Given the description of an element on the screen output the (x, y) to click on. 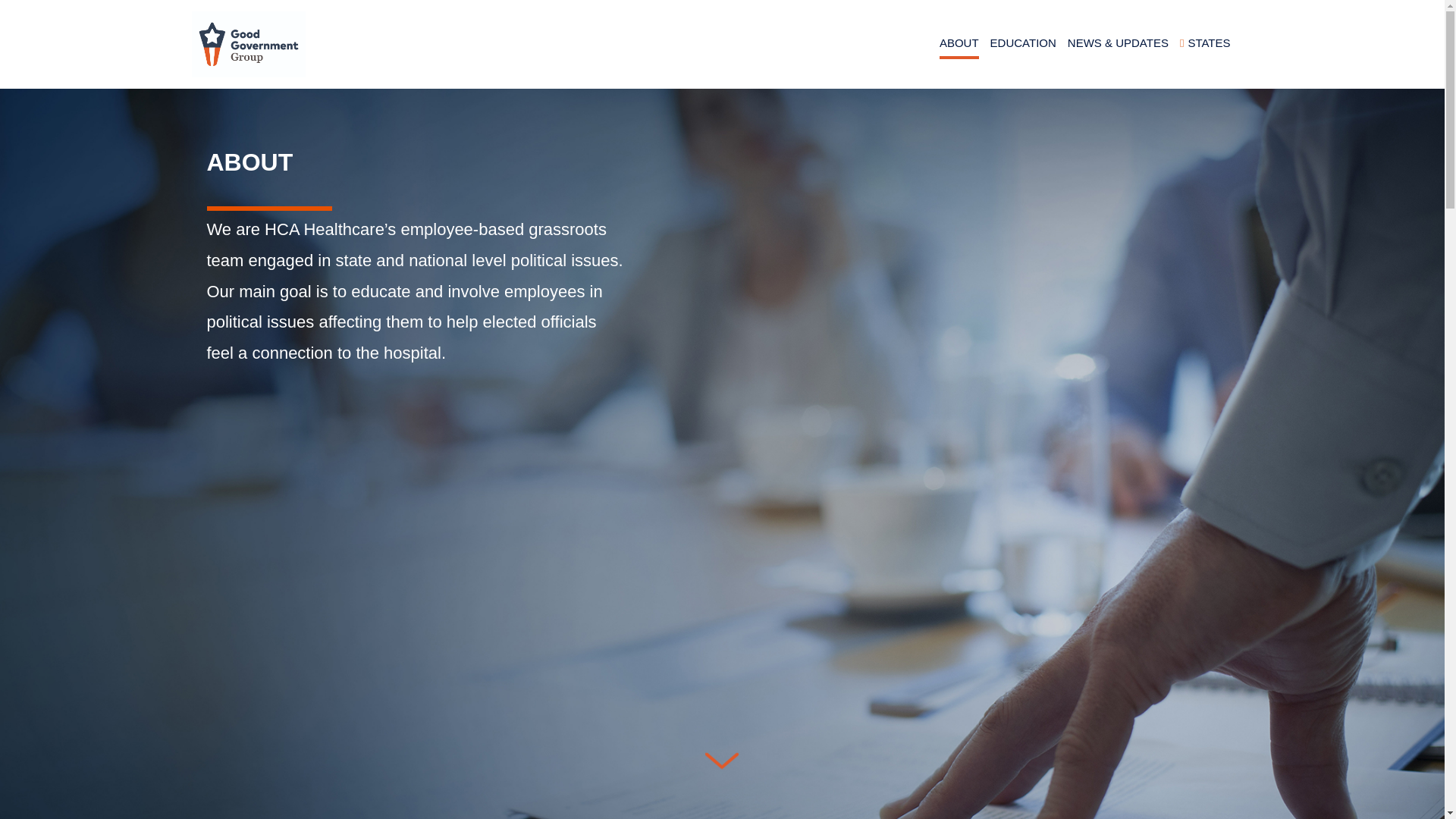
Good-Government-Group-Logo.jpg (247, 43)
ABOUT (958, 43)
STATES (1204, 43)
EDUCATION (1023, 43)
